Given the description of an element on the screen output the (x, y) to click on. 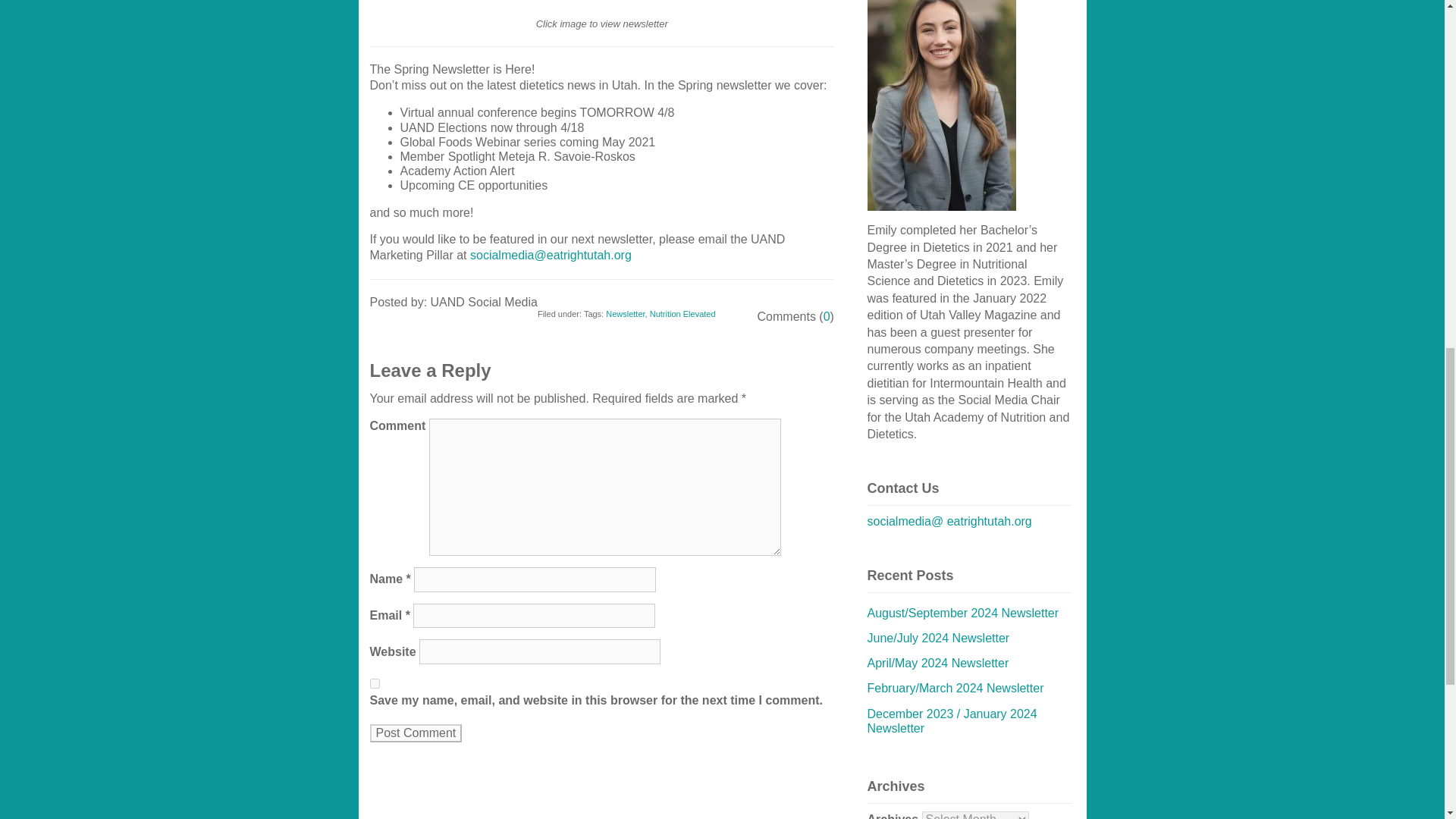
Post Comment (416, 732)
Post Comment (416, 732)
yes (374, 683)
Newsletter (625, 313)
Nutrition Elevated (682, 313)
